Given the description of an element on the screen output the (x, y) to click on. 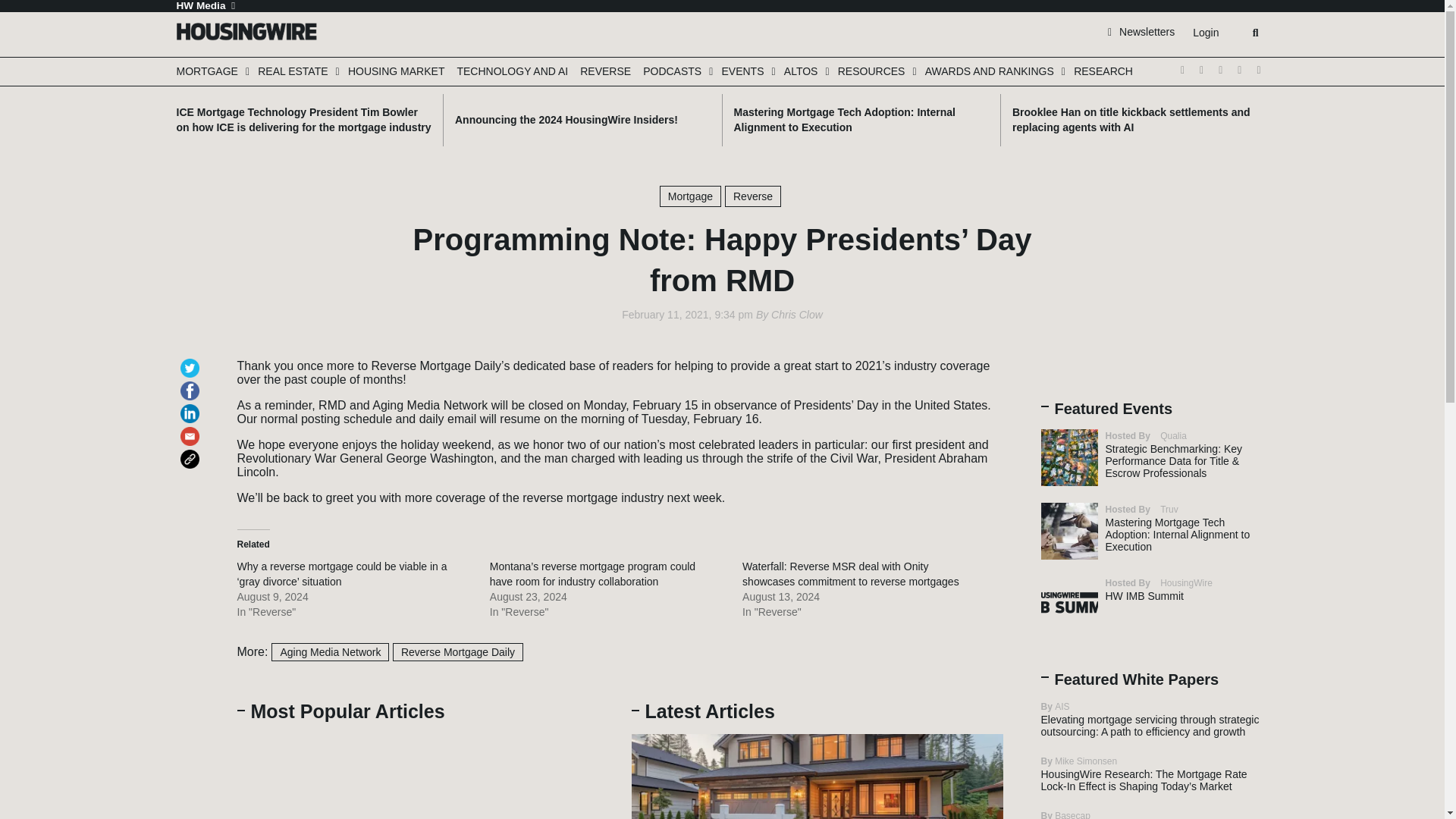
Newsletters (1141, 31)
Posts by Chris Clow (796, 314)
Click to share on Twitter (192, 360)
Click to email a link to a friend (192, 429)
Click to copy link (192, 452)
Click to share on Facebook (192, 383)
Login (1205, 32)
Click to share on LinkedIn (192, 406)
